Given the description of an element on the screen output the (x, y) to click on. 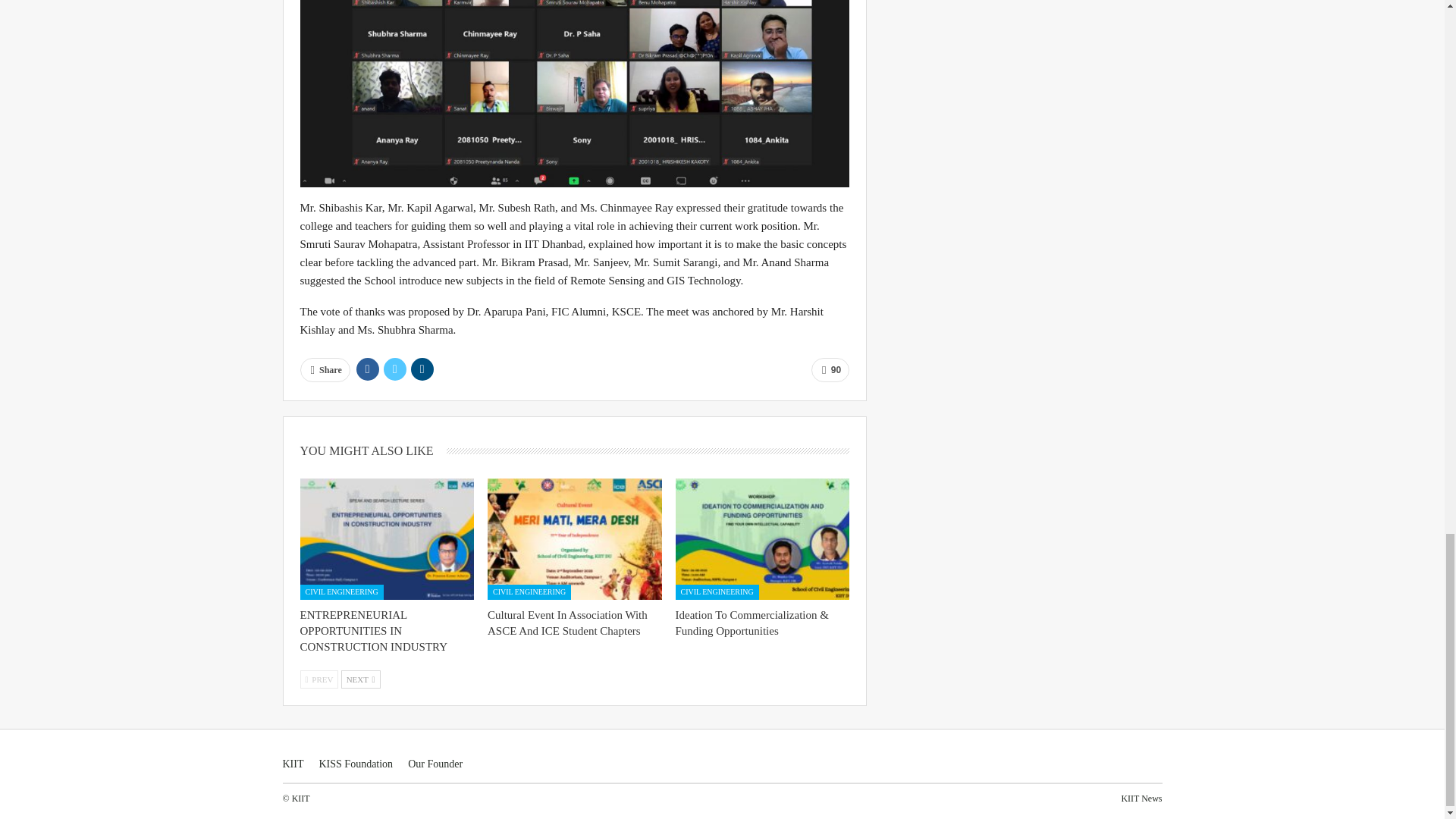
ENTREPRENEURIAL OPPORTUNITIES IN CONSTRUCTION INDUSTRY (386, 539)
CIVIL ENGINEERING (341, 592)
Previous (319, 679)
ENTREPRENEURIAL OPPORTUNITIES IN CONSTRUCTION INDUSTRY (373, 630)
Next (360, 679)
